Given the description of an element on the screen output the (x, y) to click on. 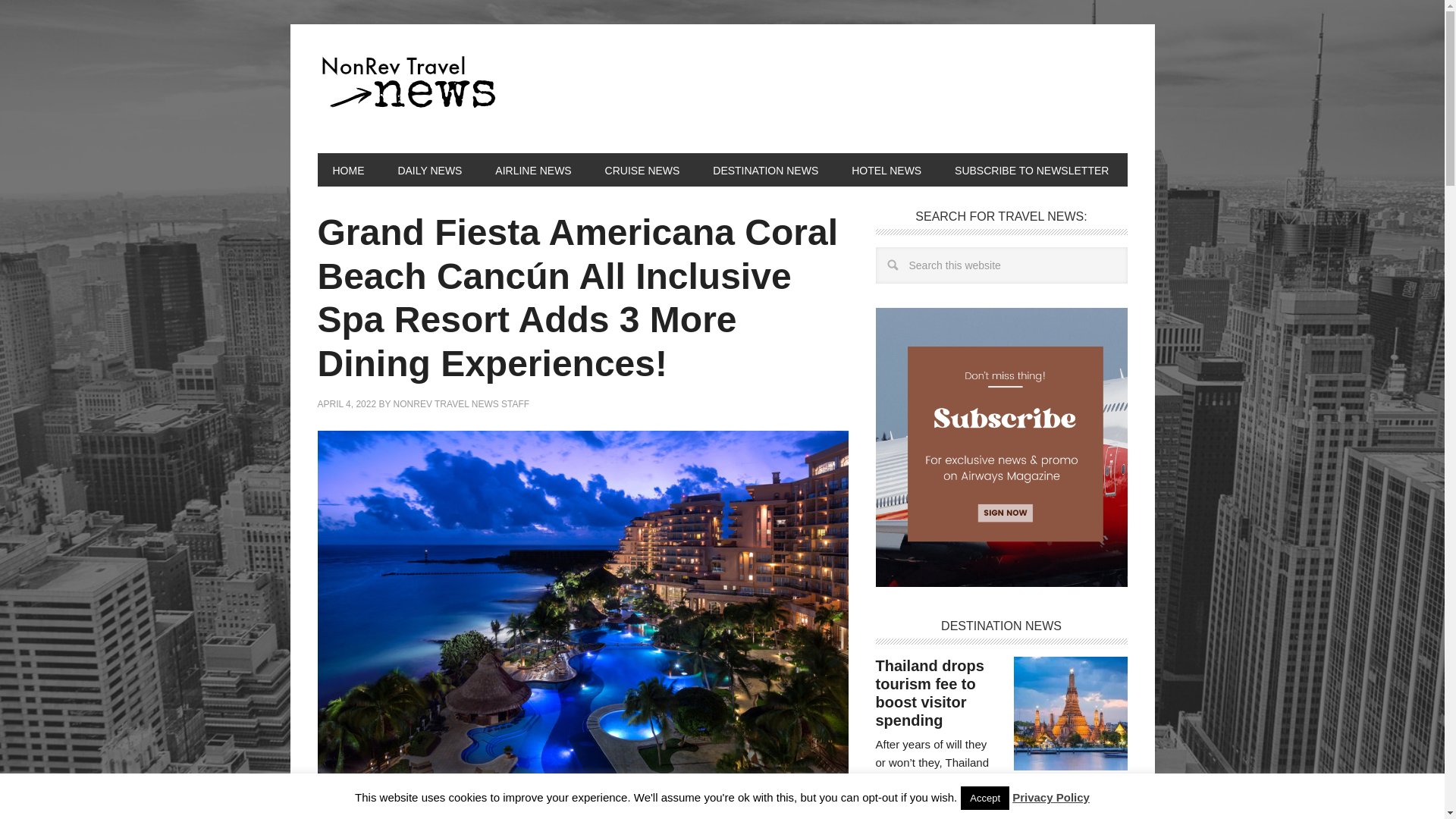
HOME (347, 169)
CRUISE NEWS (642, 169)
Accept (984, 797)
DESTINATION NEWS (764, 169)
HOTEL NEWS (885, 169)
AIRLINE NEWS (533, 169)
NONREV TRAVEL NEWS STAFF (461, 403)
DAILY NEWS (429, 169)
